Given the description of an element on the screen output the (x, y) to click on. 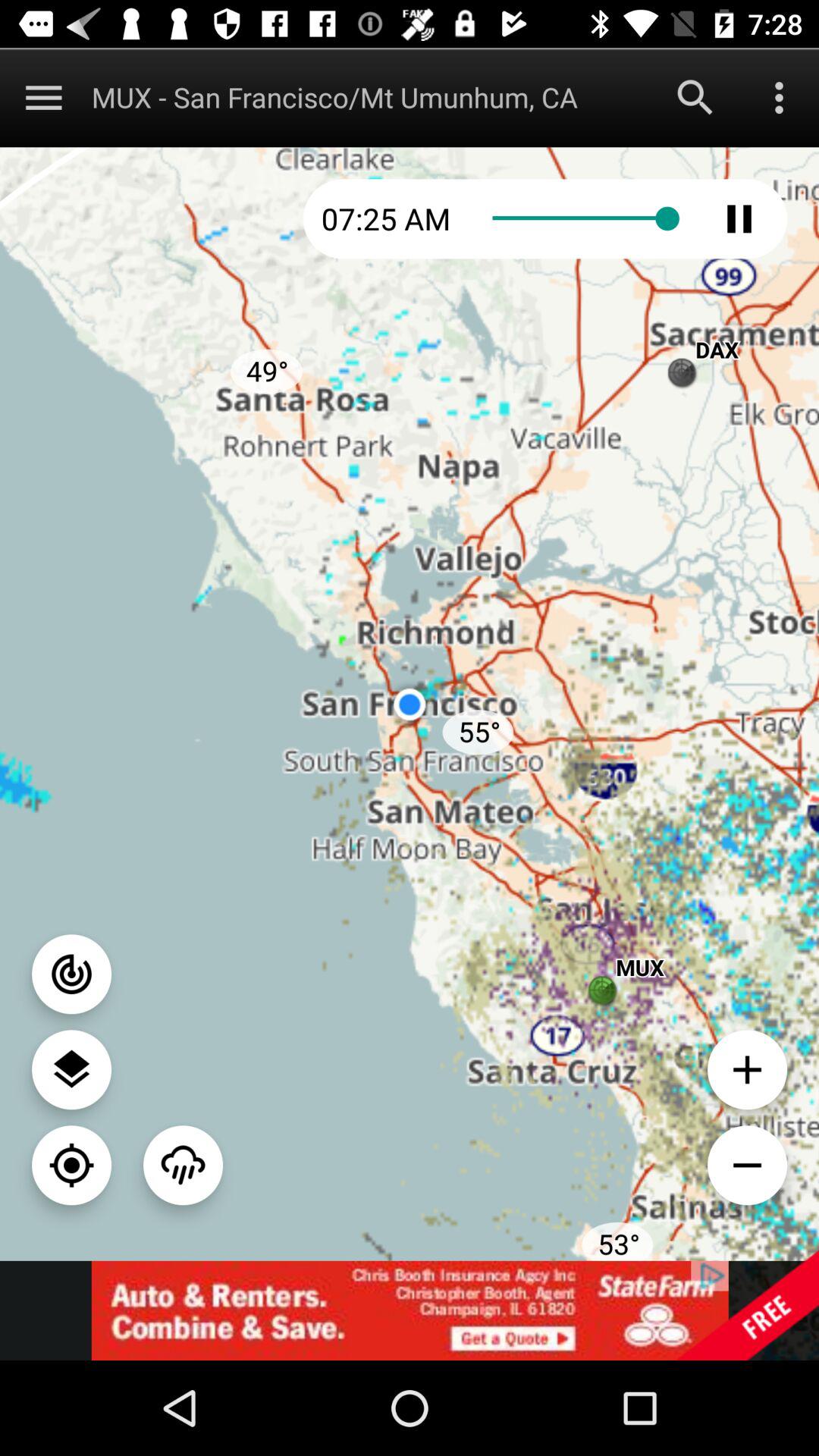
zoom in (747, 1069)
